Given the description of an element on the screen output the (x, y) to click on. 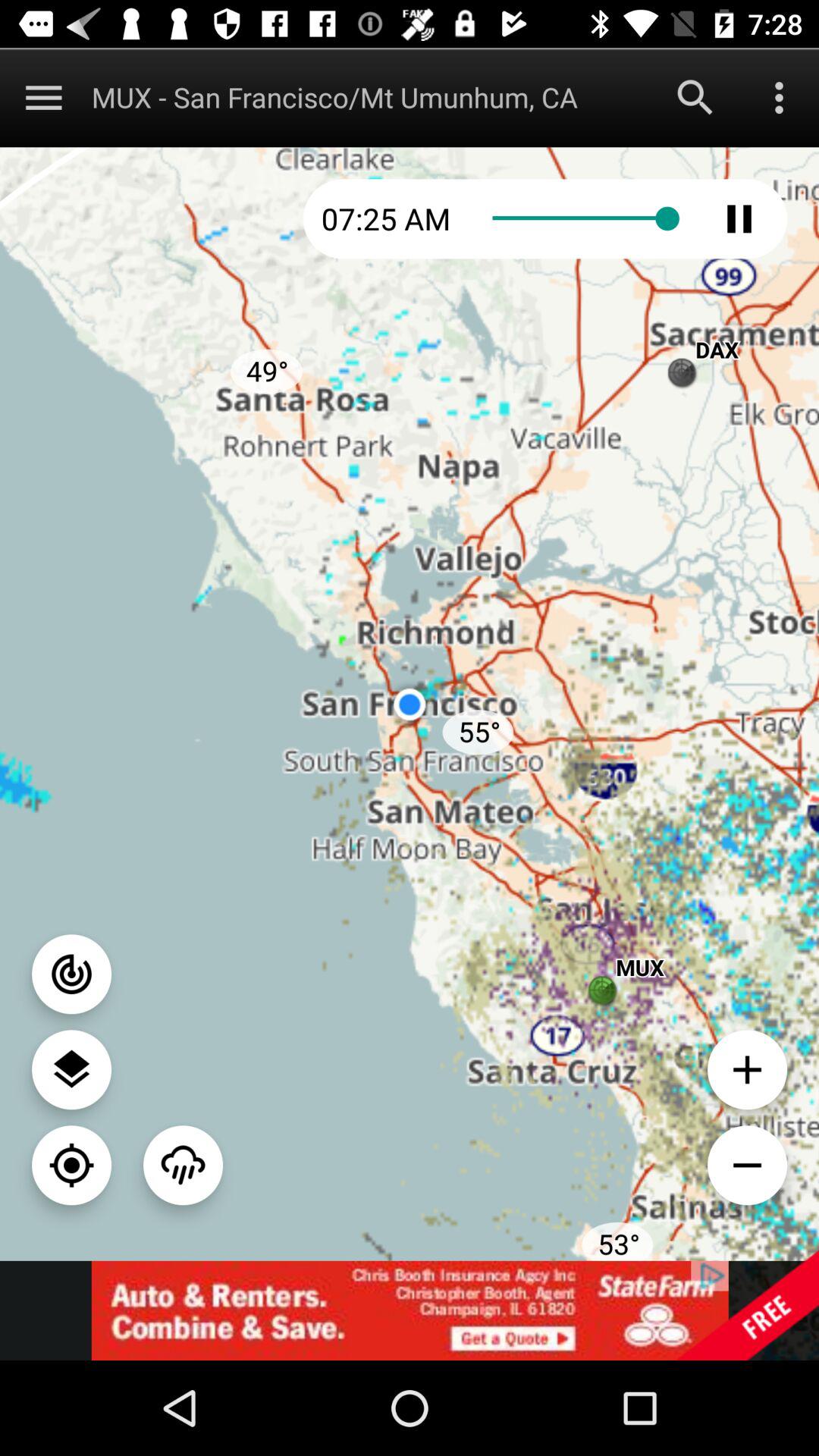
zoom in (747, 1069)
